Given the description of an element on the screen output the (x, y) to click on. 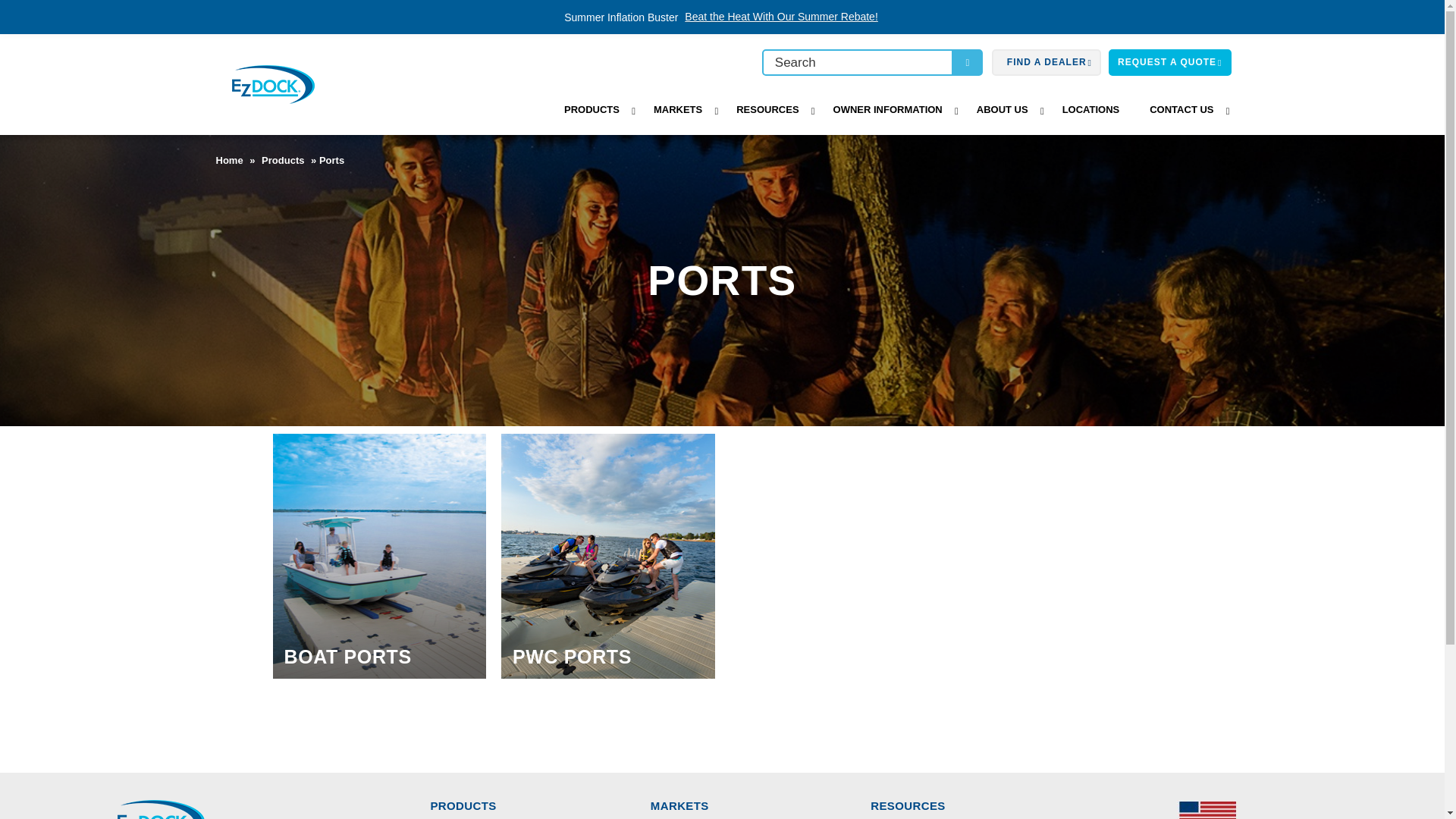
MARKETS (679, 109)
FIND A DEALER (1046, 61)
REQUEST A QUOTE (1169, 62)
Beat the Heat With Our Summer Rebate! (780, 17)
Search (857, 62)
PRODUCTS (593, 109)
